Given the description of an element on the screen output the (x, y) to click on. 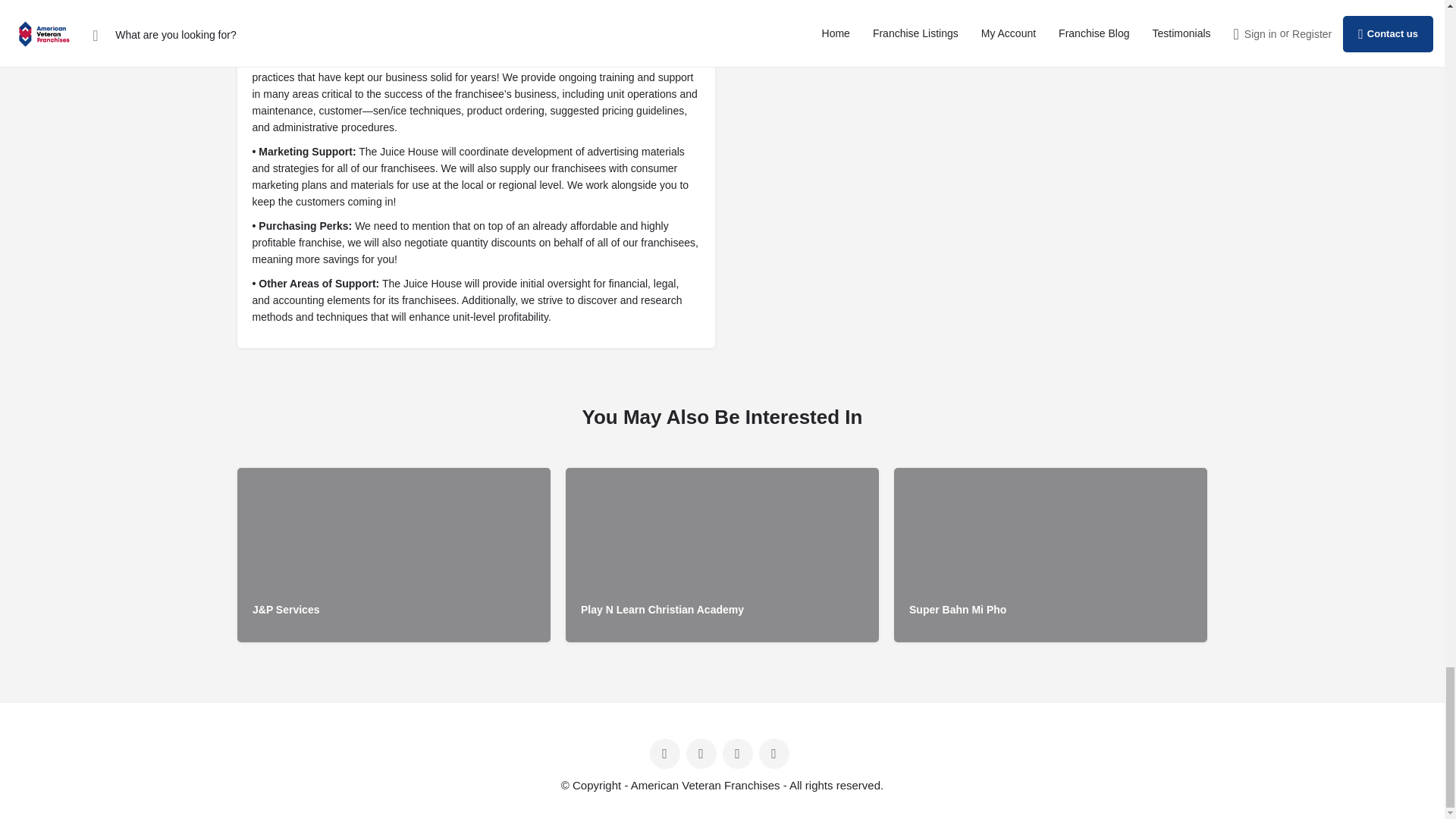
Play N Learn Christian Academy (722, 554)
Super Bahn Mi Pho (1050, 554)
